Given the description of an element on the screen output the (x, y) to click on. 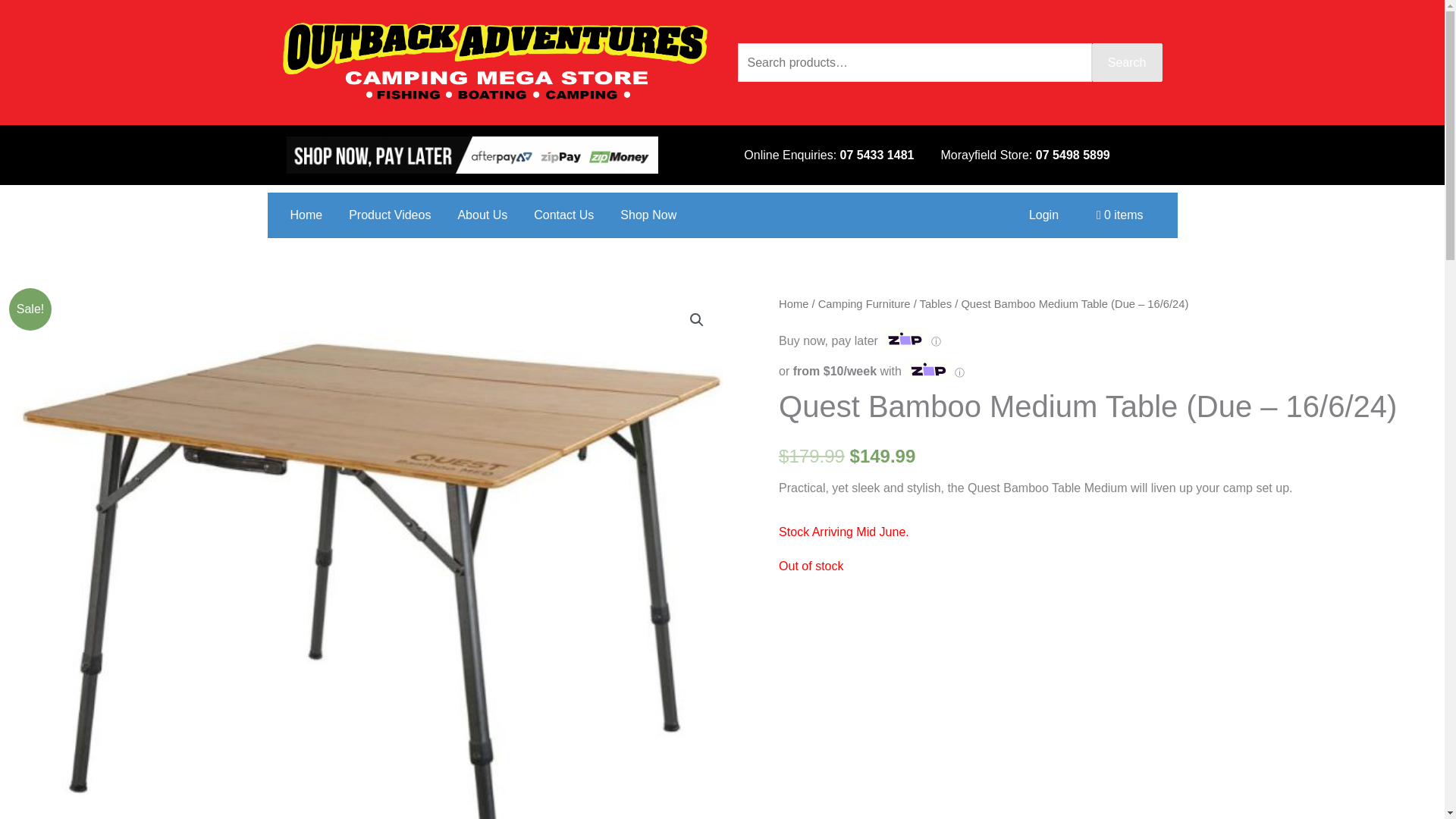
0 items (1119, 215)
Start shopping (1119, 215)
Login (1043, 215)
Morayfield Store: 07 5498 5899 (1024, 155)
Search (1126, 62)
Product Videos (389, 215)
Home (793, 304)
Home (306, 215)
Zip payment Information (933, 341)
Contact Us (562, 215)
Tables (936, 304)
About Us (481, 215)
Shop Now (647, 215)
Online Enquiries: 07 5433 1481 (829, 155)
